Given the description of an element on the screen output the (x, y) to click on. 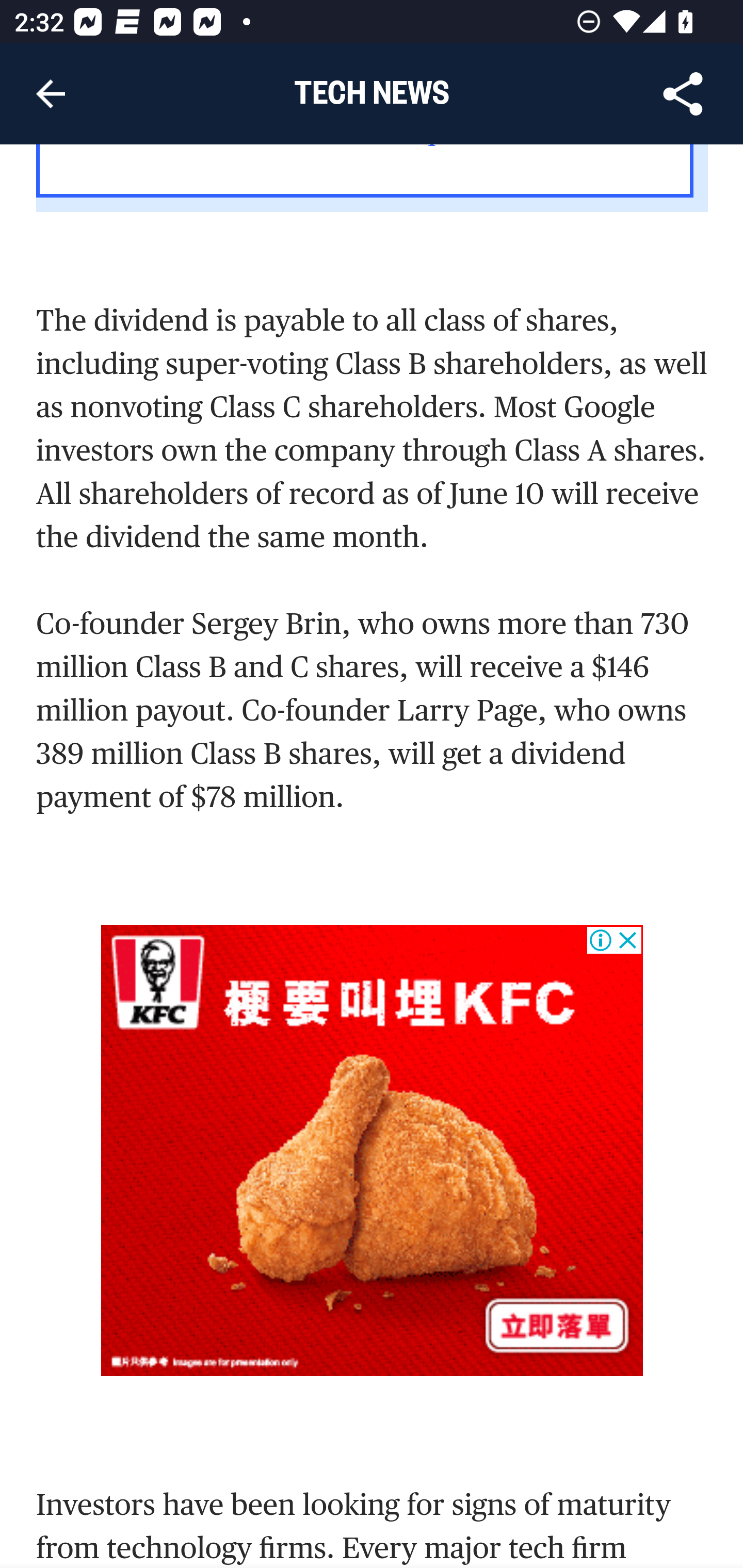
Navigate up (50, 93)
Share Article, button (683, 94)
Advertisement (372, 1149)
